Given the description of an element on the screen output the (x, y) to click on. 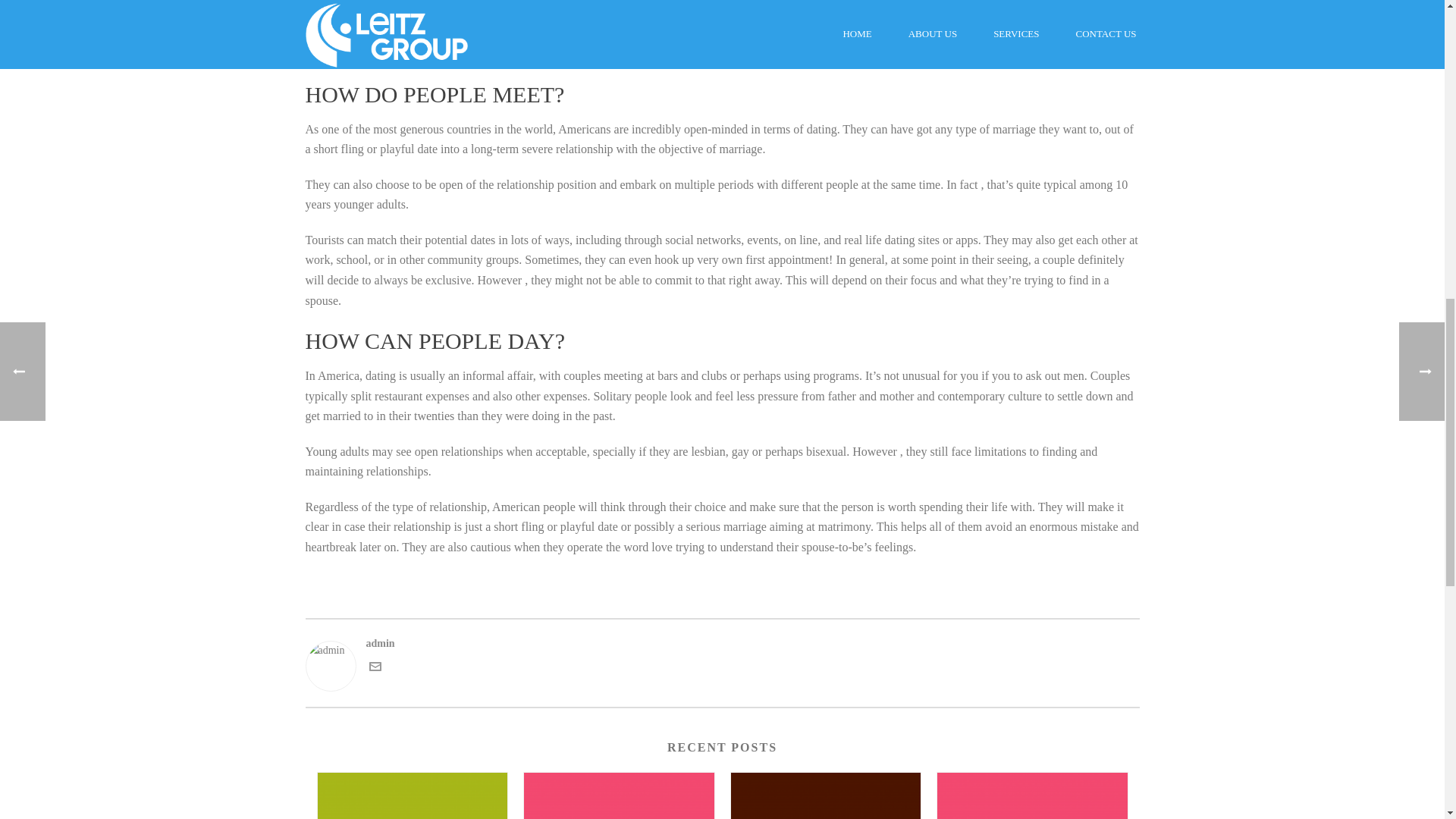
Get in touch with me via email (374, 668)
admin (721, 642)
What is the Best No cost International Going out with Site? (1031, 796)
